Given the description of an element on the screen output the (x, y) to click on. 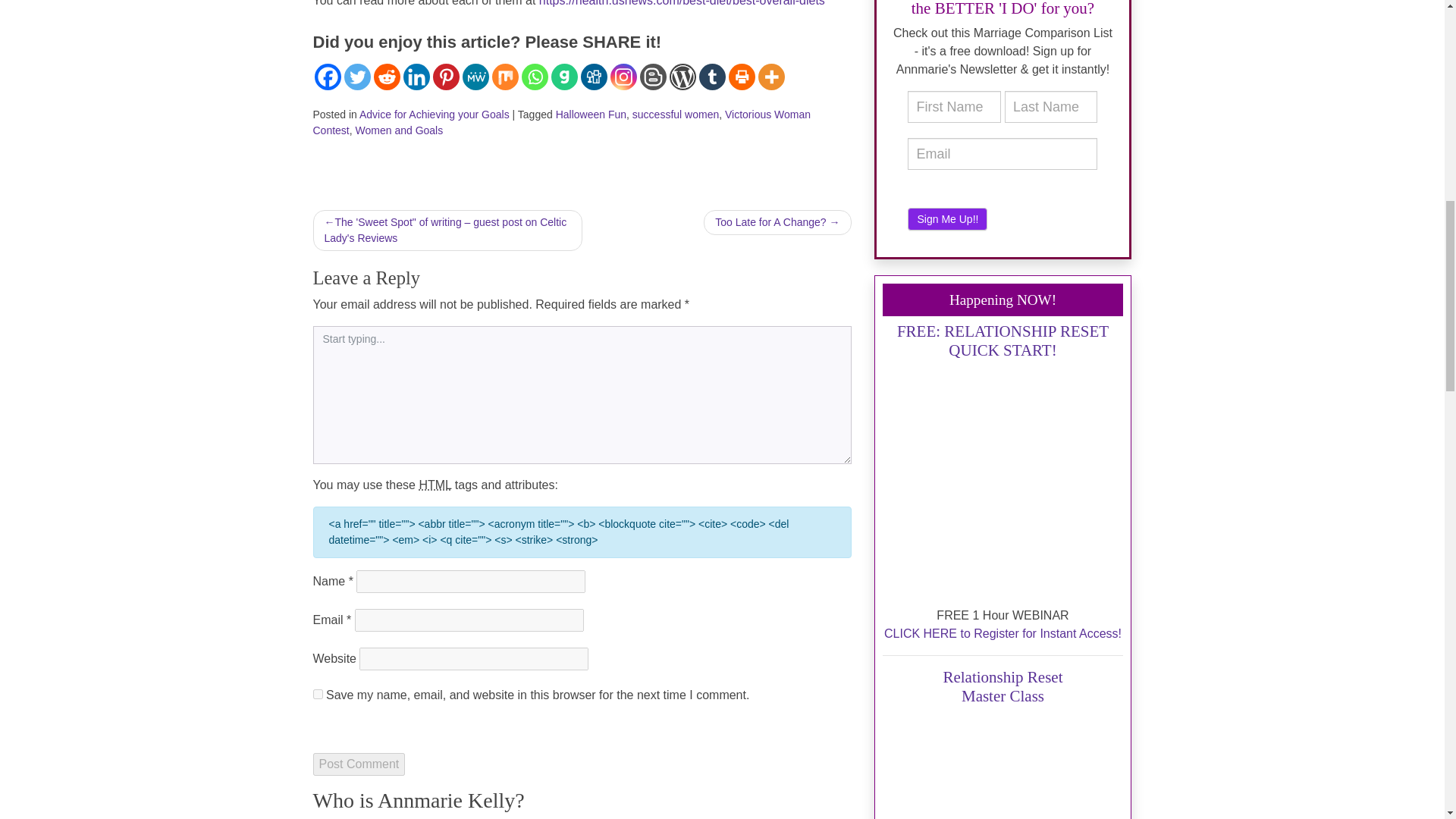
Instagram (623, 76)
Linkedin (416, 76)
Mix (505, 76)
Reddit (385, 76)
Sign Me Up!! (947, 219)
Post Comment (358, 763)
yes (317, 694)
Gab (563, 76)
Whatsapp (534, 76)
Digg (593, 76)
